Given the description of an element on the screen output the (x, y) to click on. 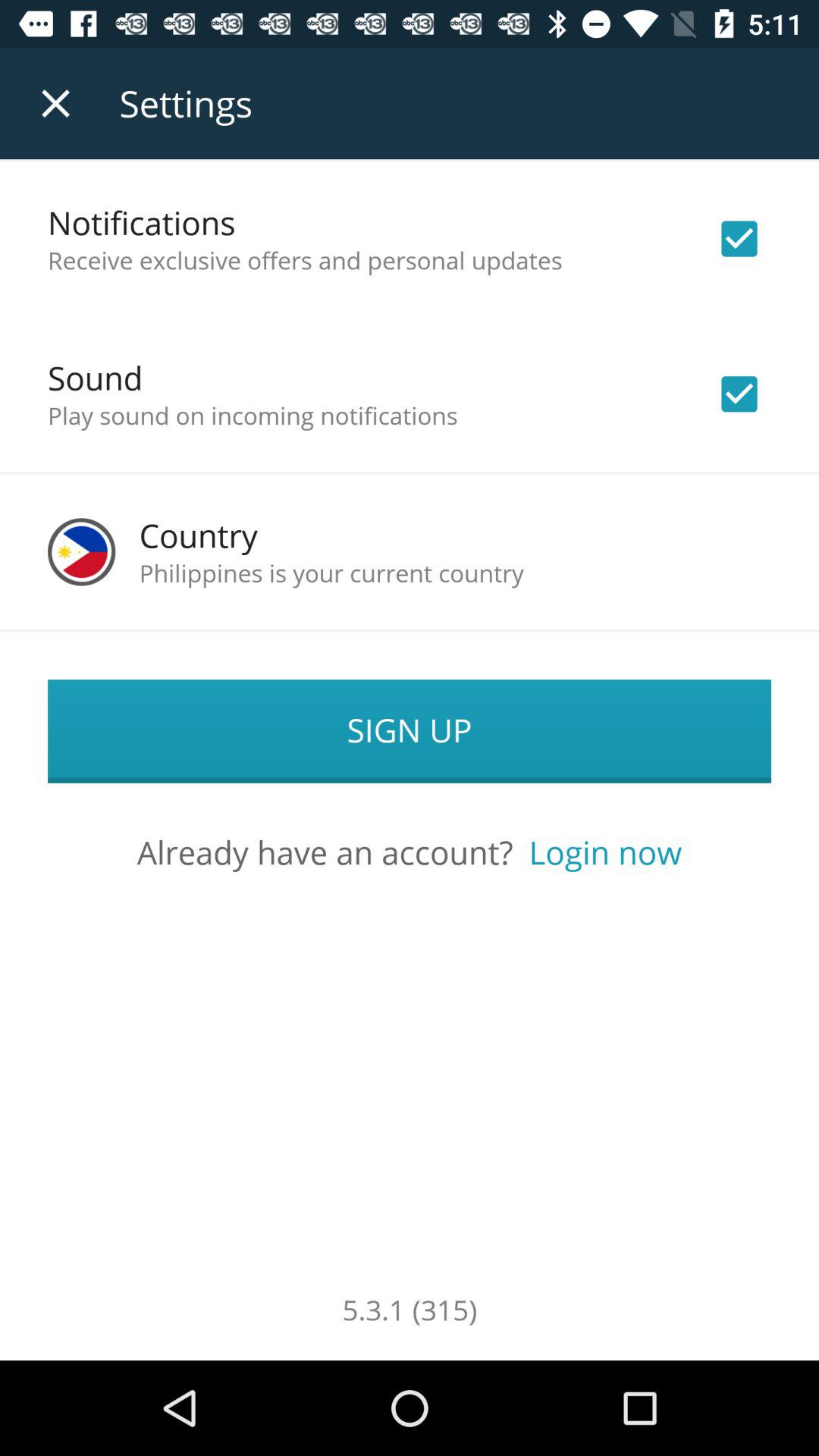
disable notifications (739, 238)
